Given the description of an element on the screen output the (x, y) to click on. 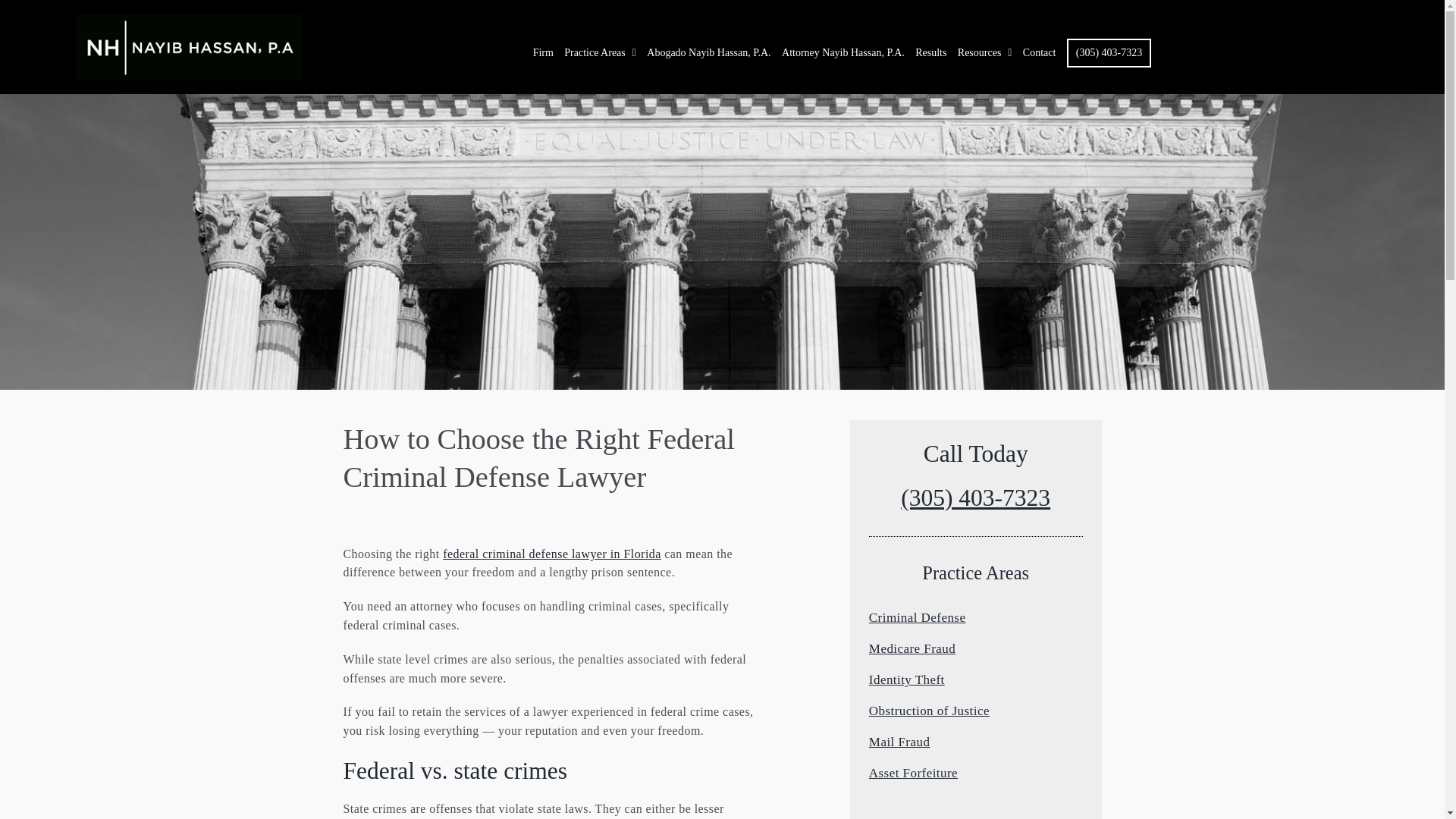
Practice Areas (600, 52)
Attorney Nayib Hassan, P.A. (842, 52)
Abogado Nayib Hassan, P.A. (708, 52)
